Given the description of an element on the screen output the (x, y) to click on. 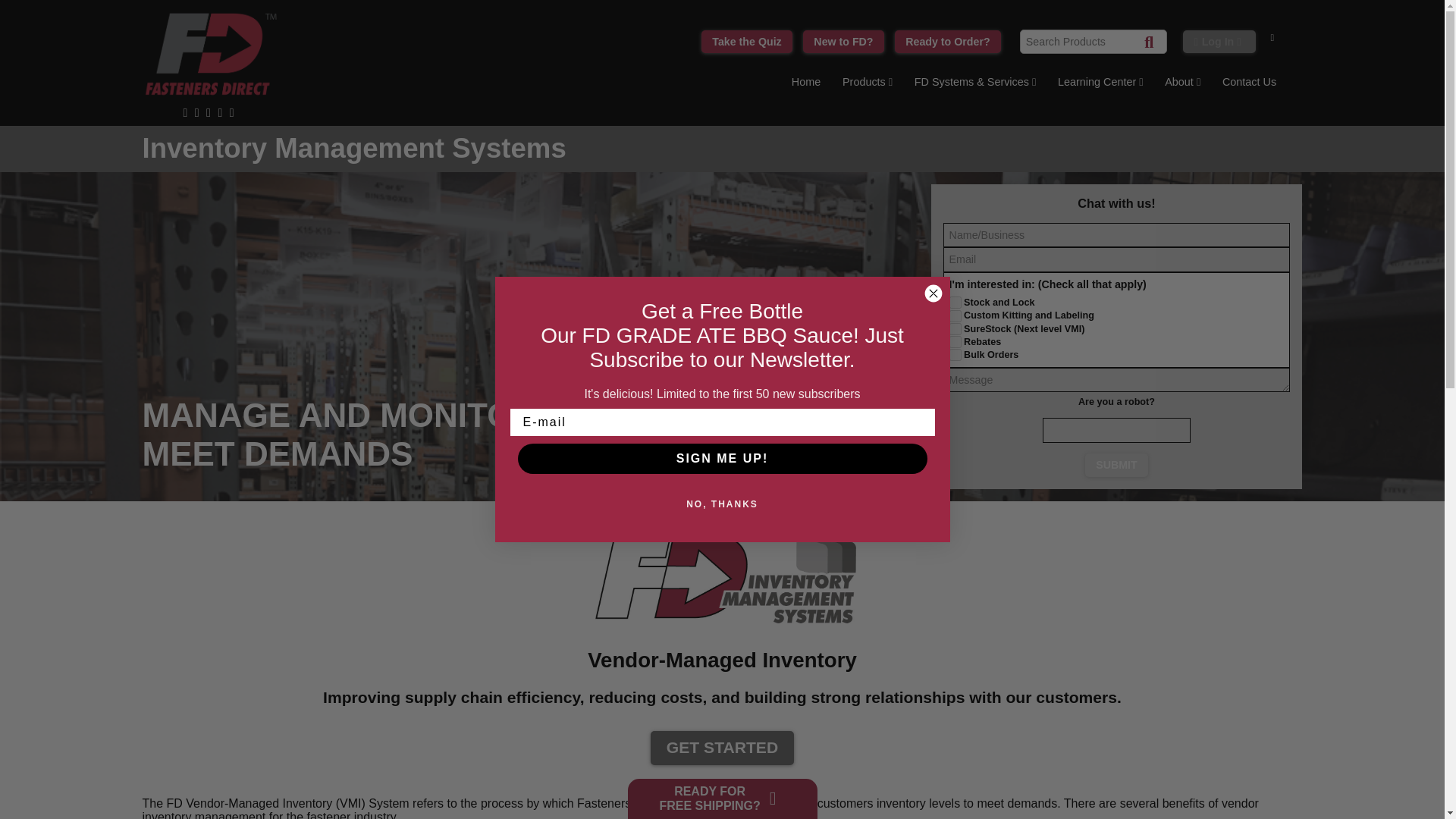
Stock and Lock (954, 302)
Go to the Homepage (805, 84)
Products (867, 84)
Custom Kitting and Labeling (954, 316)
New to FD? (843, 42)
Message (1116, 380)
Home (805, 84)
Rebates (954, 341)
Ready to Order? (948, 42)
About (1182, 84)
Take the Quiz (746, 42)
Email (1116, 259)
Close dialog 1 (932, 293)
Learning Center (1100, 84)
Bulk Orders (954, 354)
